Given the description of an element on the screen output the (x, y) to click on. 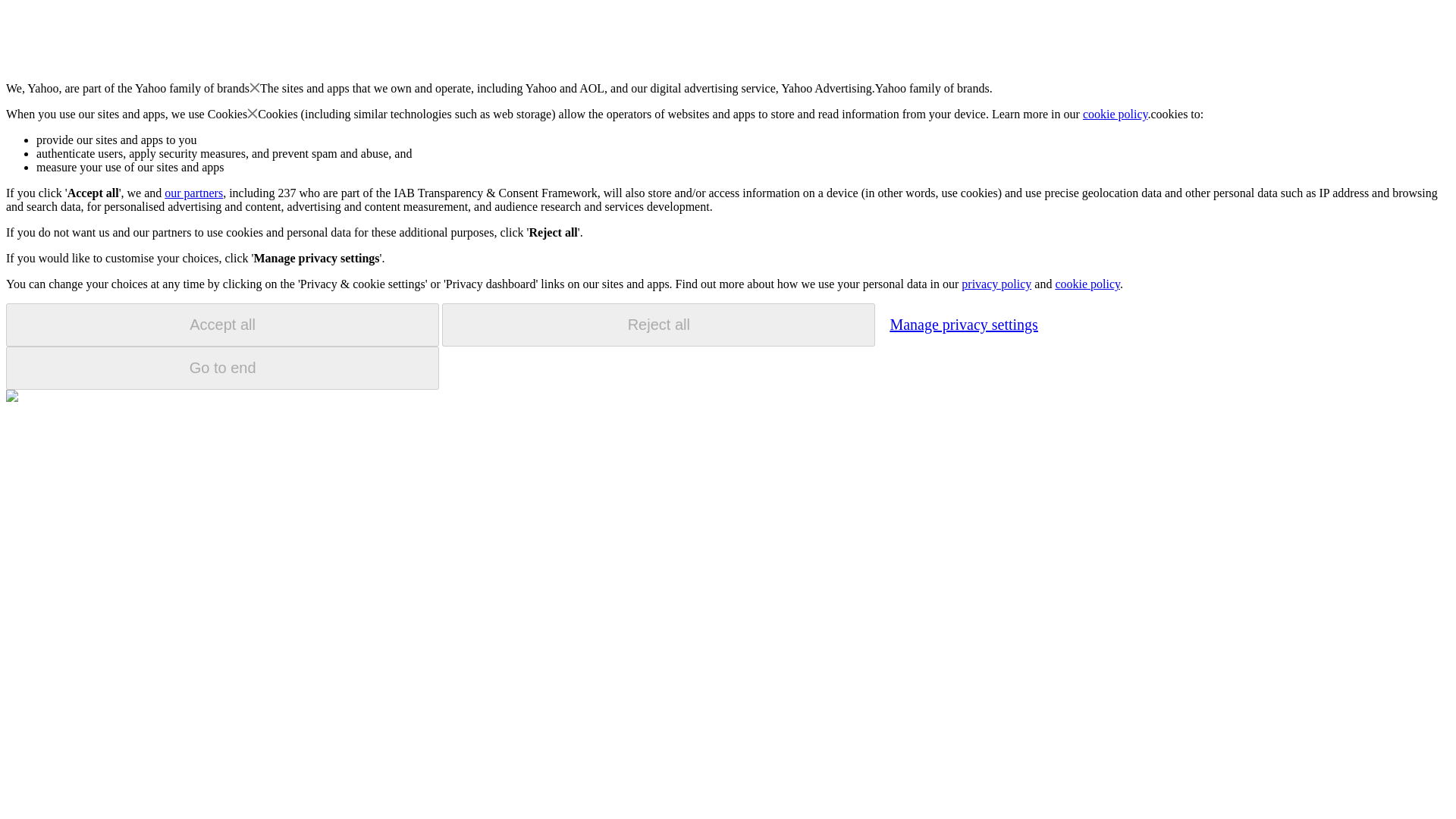
Go to end (222, 367)
privacy policy (995, 283)
Accept all (222, 324)
cookie policy (1115, 113)
cookie policy (1086, 283)
Reject all (658, 324)
Manage privacy settings (963, 323)
our partners (193, 192)
